Given the description of an element on the screen output the (x, y) to click on. 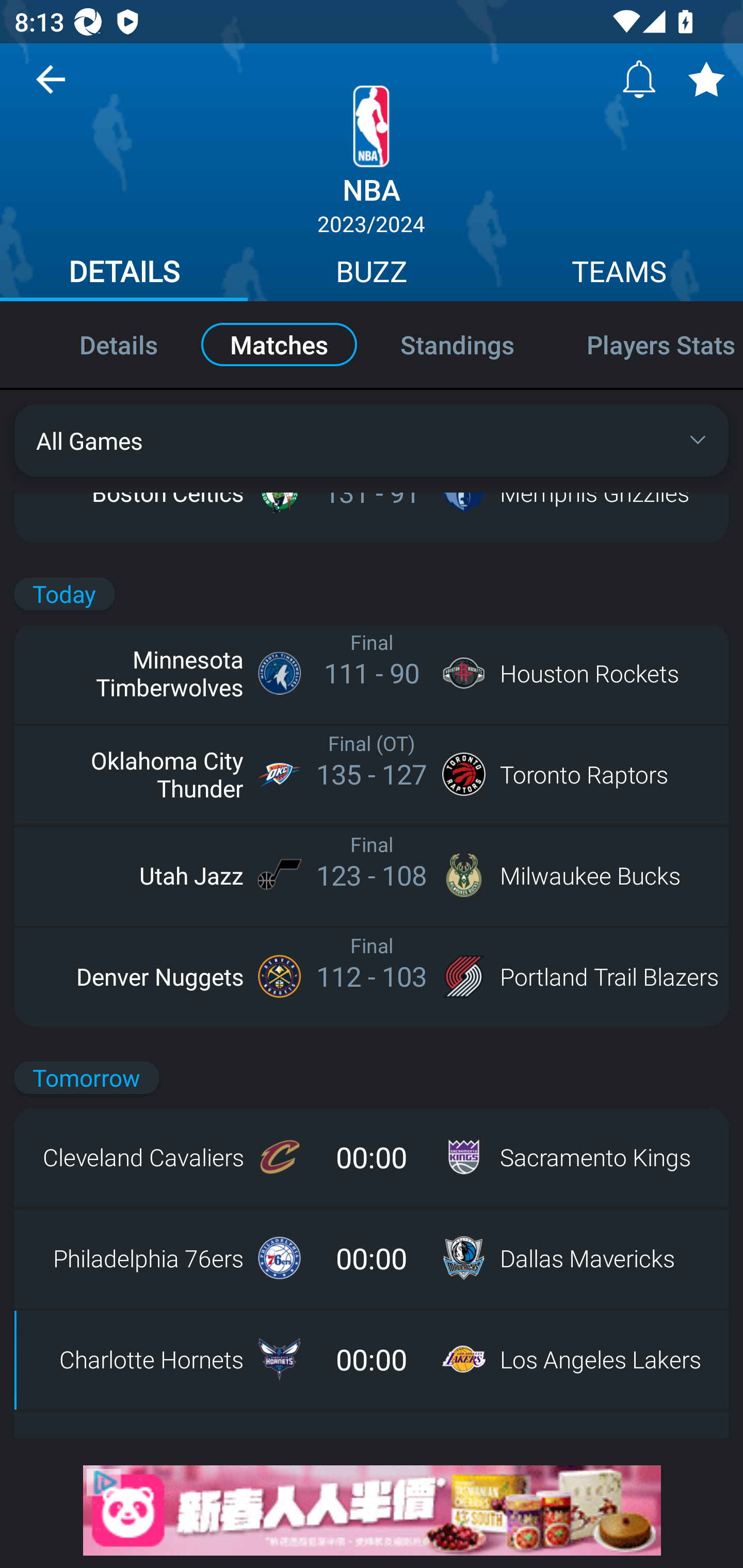
Navigate up (50, 86)
DETAILS (123, 274)
BUZZ (371, 274)
TEAMS (619, 274)
Details (96, 344)
Miami Heat 95 - 103 Los Angeles Clippers (371, 320)
Standings (457, 344)
Players Stats (646, 344)
All Games (371, 440)
Utah Jazz Final 123 - 108 Milwaukee Bucks (371, 874)
Cleveland Cavaliers 00:00 Sacramento Kings (371, 1157)
Philadelphia 76ers 00:00 Dallas Mavericks (371, 1258)
Charlotte Hornets 00:00 Los Angeles Lakers (371, 1359)
mg0gkqli_320x50 (371, 1509)
